Given the description of an element on the screen output the (x, y) to click on. 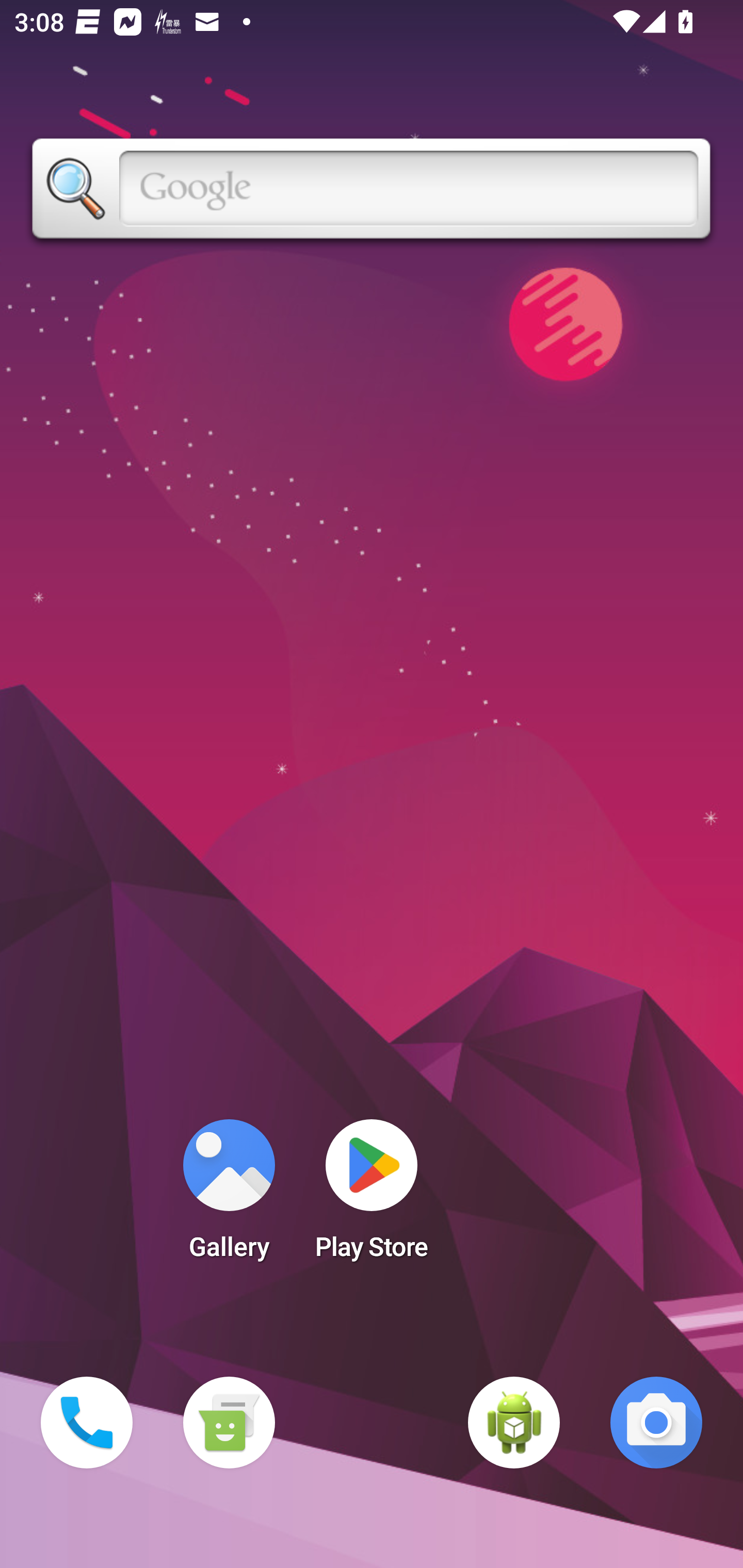
Gallery (228, 1195)
Play Store (371, 1195)
Phone (86, 1422)
Messaging (228, 1422)
WebView Browser Tester (513, 1422)
Camera (656, 1422)
